Given the description of an element on the screen output the (x, y) to click on. 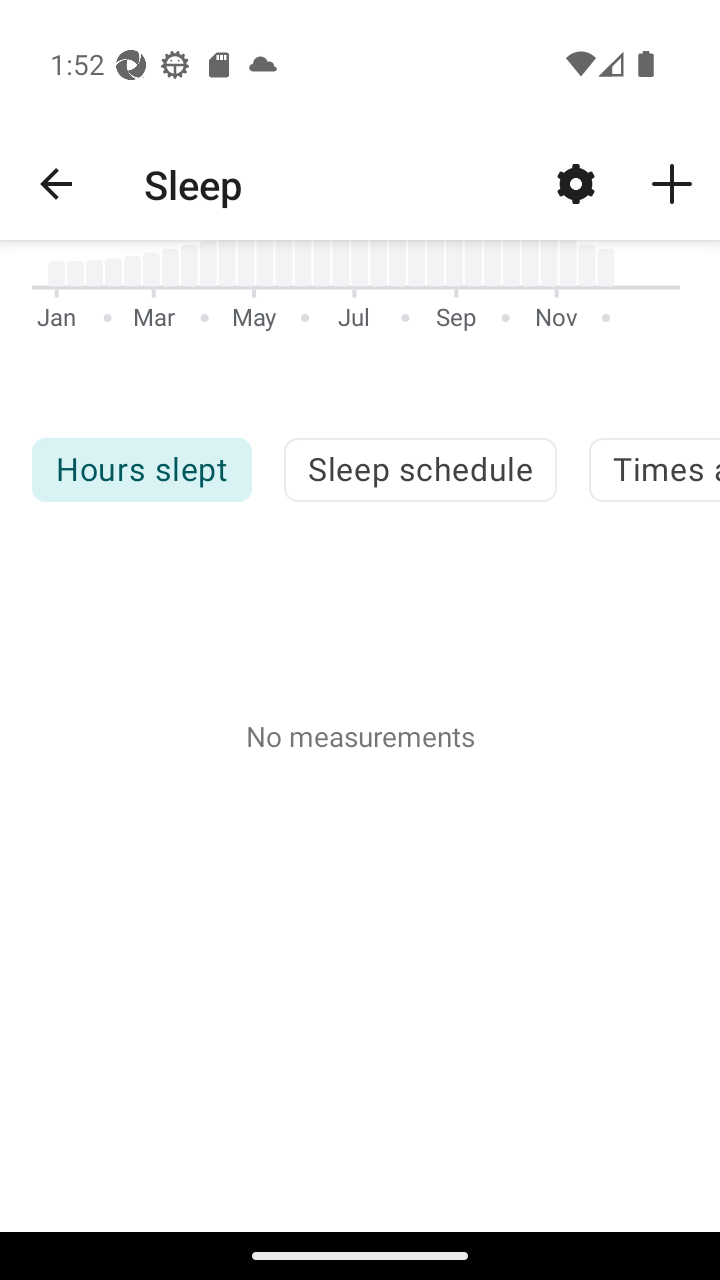
Navigate up (56, 184)
Adjust your goal (575, 183)
Tap to track sleep or
 log a past record (672, 183)
Hours slept (141, 470)
Sleep schedule (420, 470)
Times awakened (654, 470)
